Given the description of an element on the screen output the (x, y) to click on. 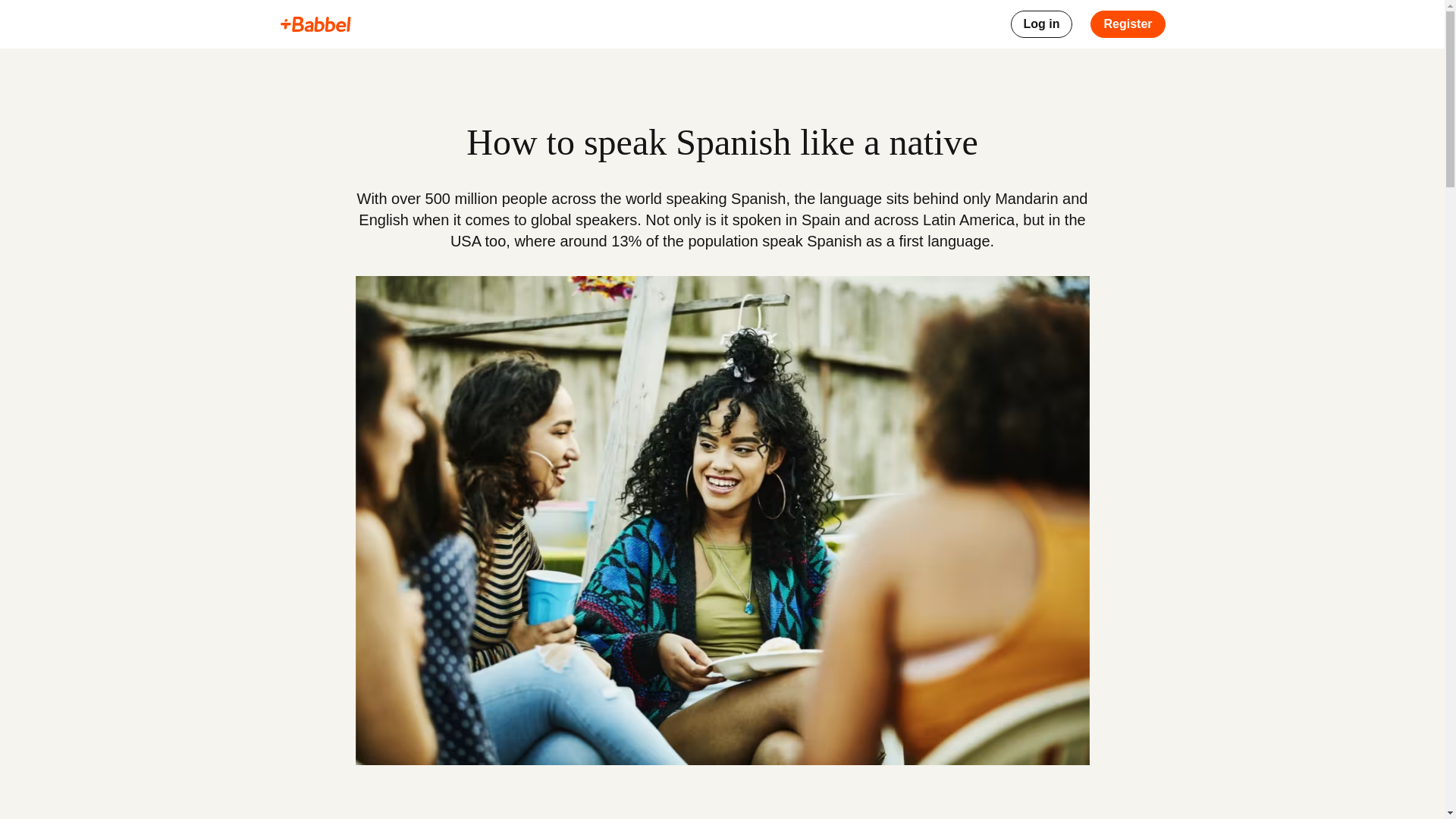
Register (1127, 23)
Log in (1040, 23)
